Given the description of an element on the screen output the (x, y) to click on. 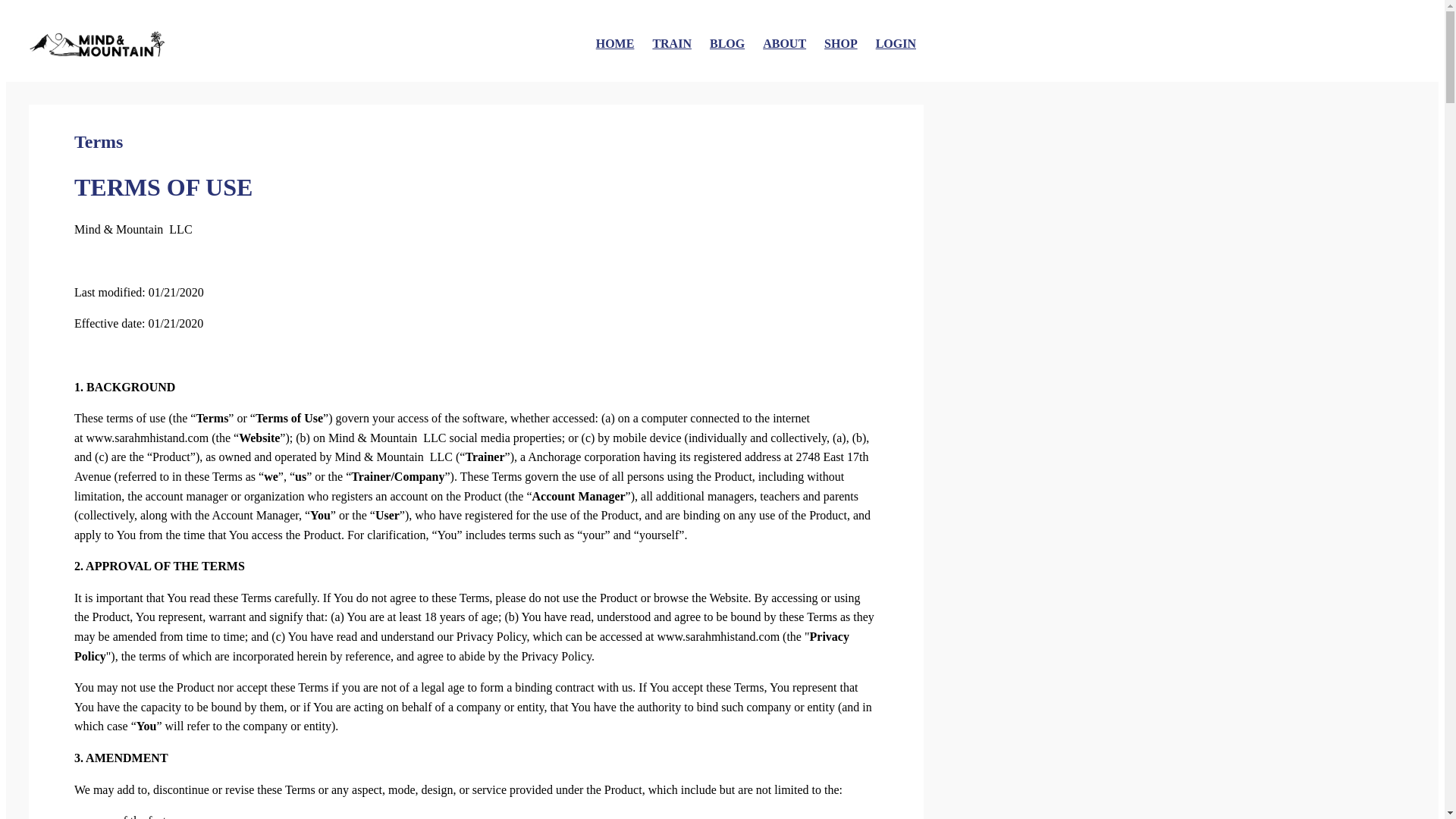
LOGIN (895, 43)
SHOP (840, 43)
HOME (614, 43)
TRAIN (671, 43)
ABOUT (784, 43)
BLOG (727, 43)
